Given the description of an element on the screen output the (x, y) to click on. 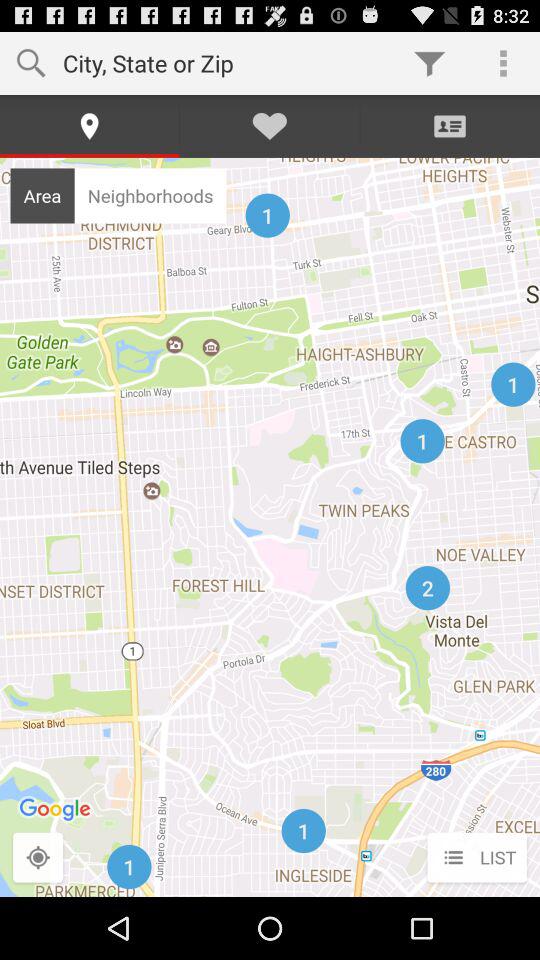
use current location (37, 858)
